Given the description of an element on the screen output the (x, y) to click on. 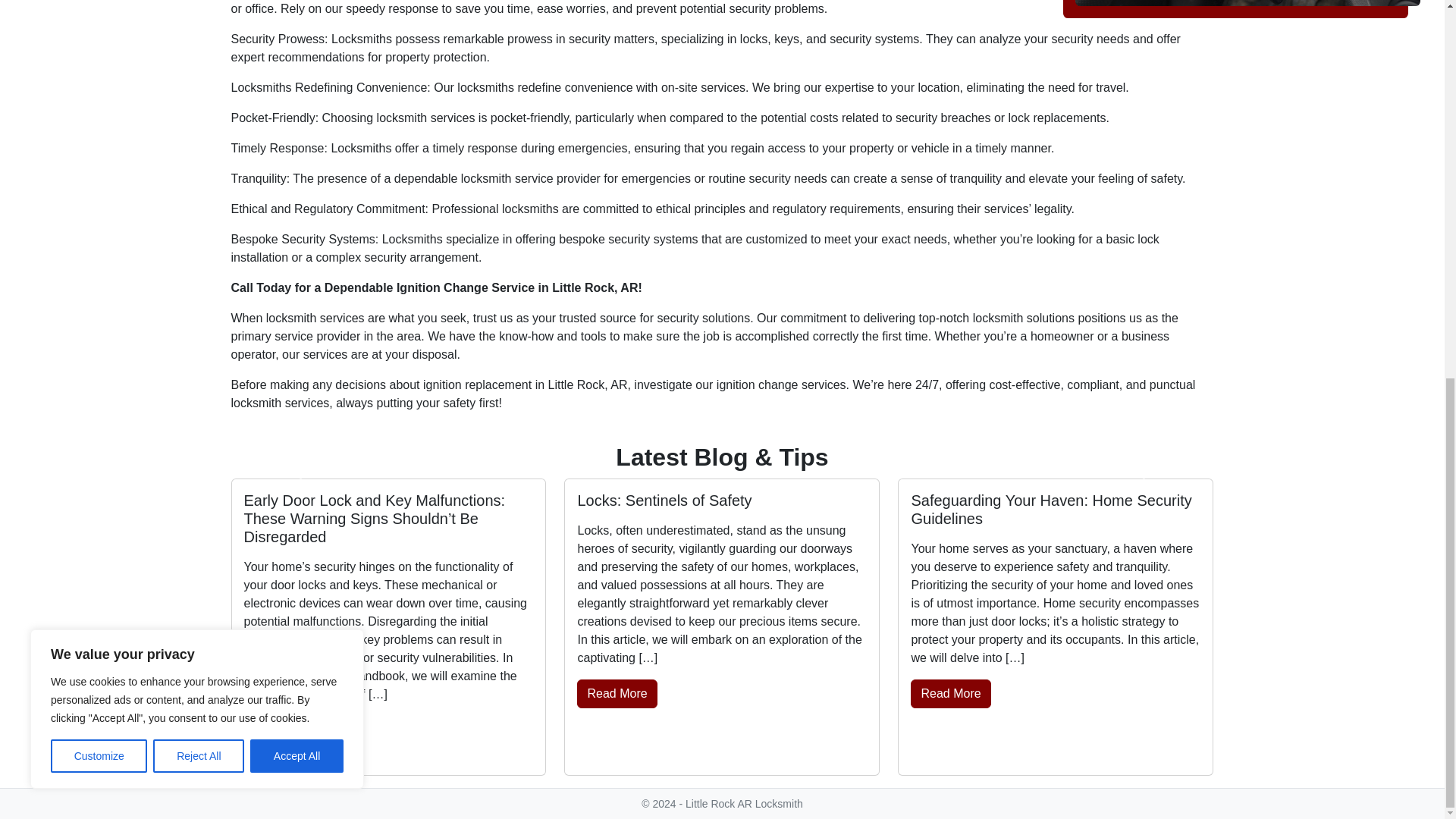
Reject All (198, 56)
Customize (98, 56)
Accept All (296, 56)
